Given the description of an element on the screen output the (x, y) to click on. 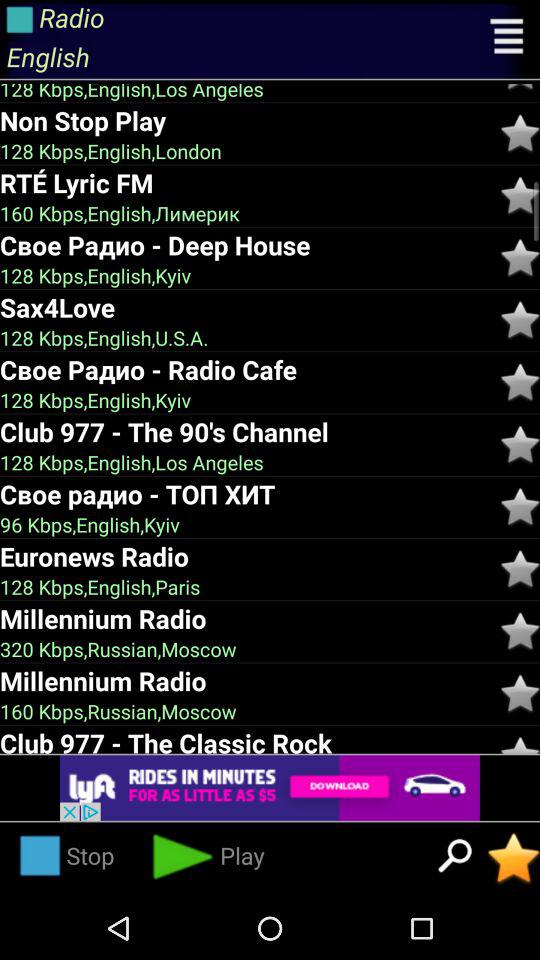
click the star option (520, 257)
